Given the description of an element on the screen output the (x, y) to click on. 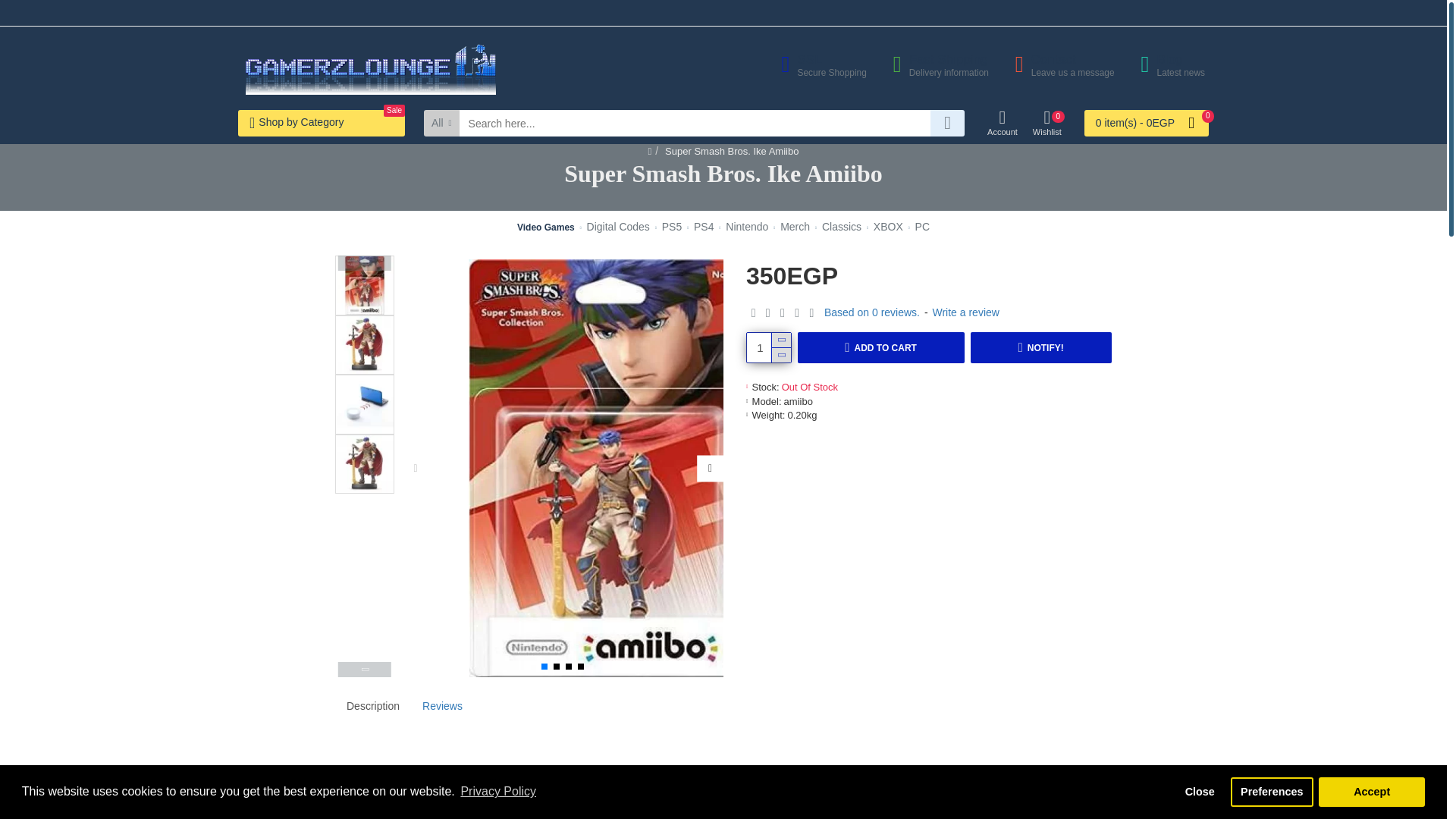
1 (1059, 63)
Super Smash Bros. Ike Amiibo (768, 347)
Super Smash Bros. Ike Amiibo (371, 64)
Super Smash Bros. Ike Amiibo (818, 63)
Preferences (364, 404)
Super Smash Bros. Ike Amiibo (364, 463)
Privacy Policy (321, 122)
Close (1271, 791)
Super Smash Bros. Ike Amiibo (364, 284)
